Given the description of an element on the screen output the (x, y) to click on. 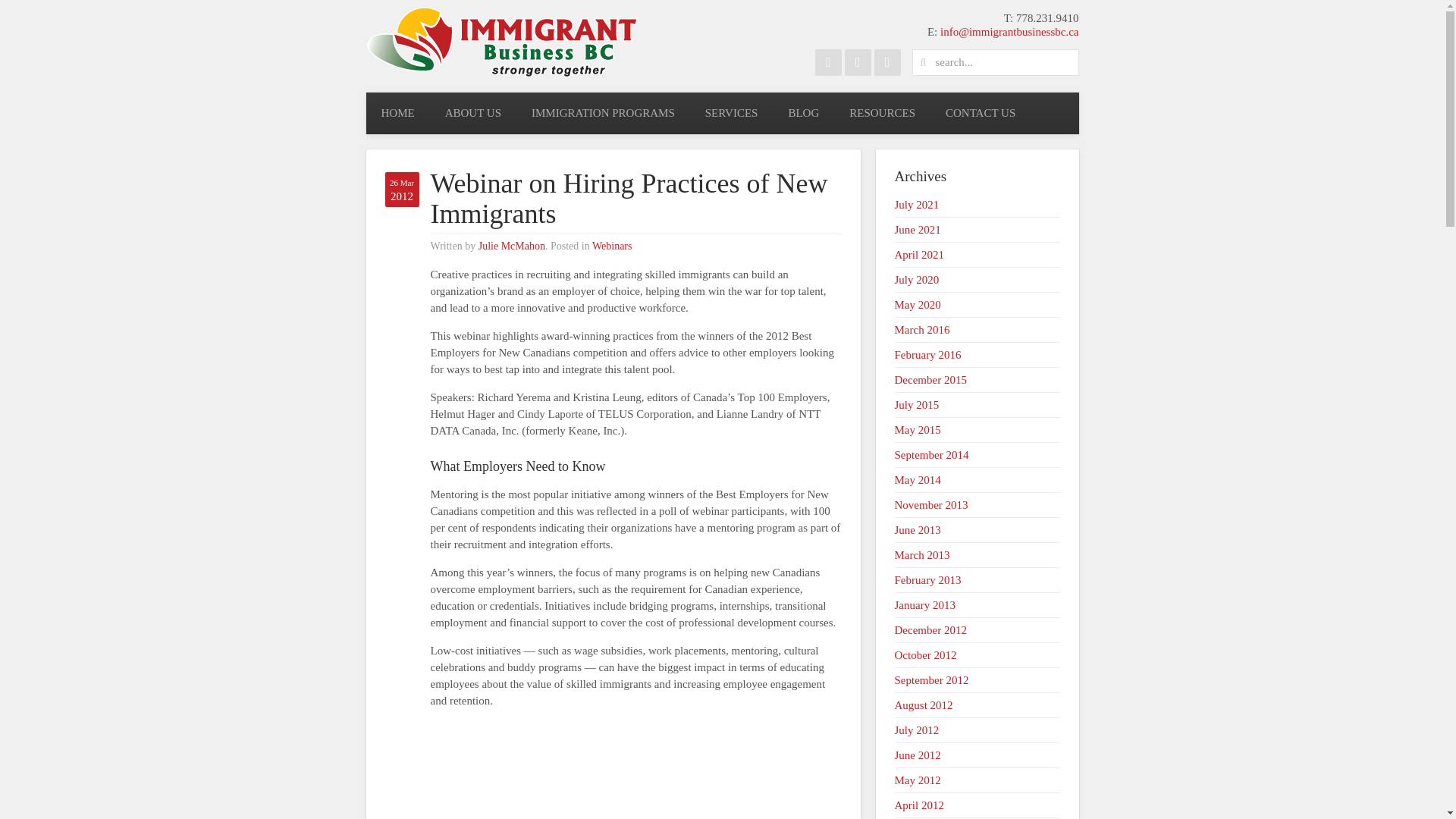
ABOUT US (472, 113)
HOME (397, 113)
RESOURCES (882, 113)
IMMIGRATION PROGRAMS (603, 113)
Julie McMahon (511, 245)
Julie McMahon (511, 245)
SERVICES (731, 113)
Webinars (611, 245)
BLOG (803, 113)
CONTACT US (980, 113)
